Given the description of an element on the screen output the (x, y) to click on. 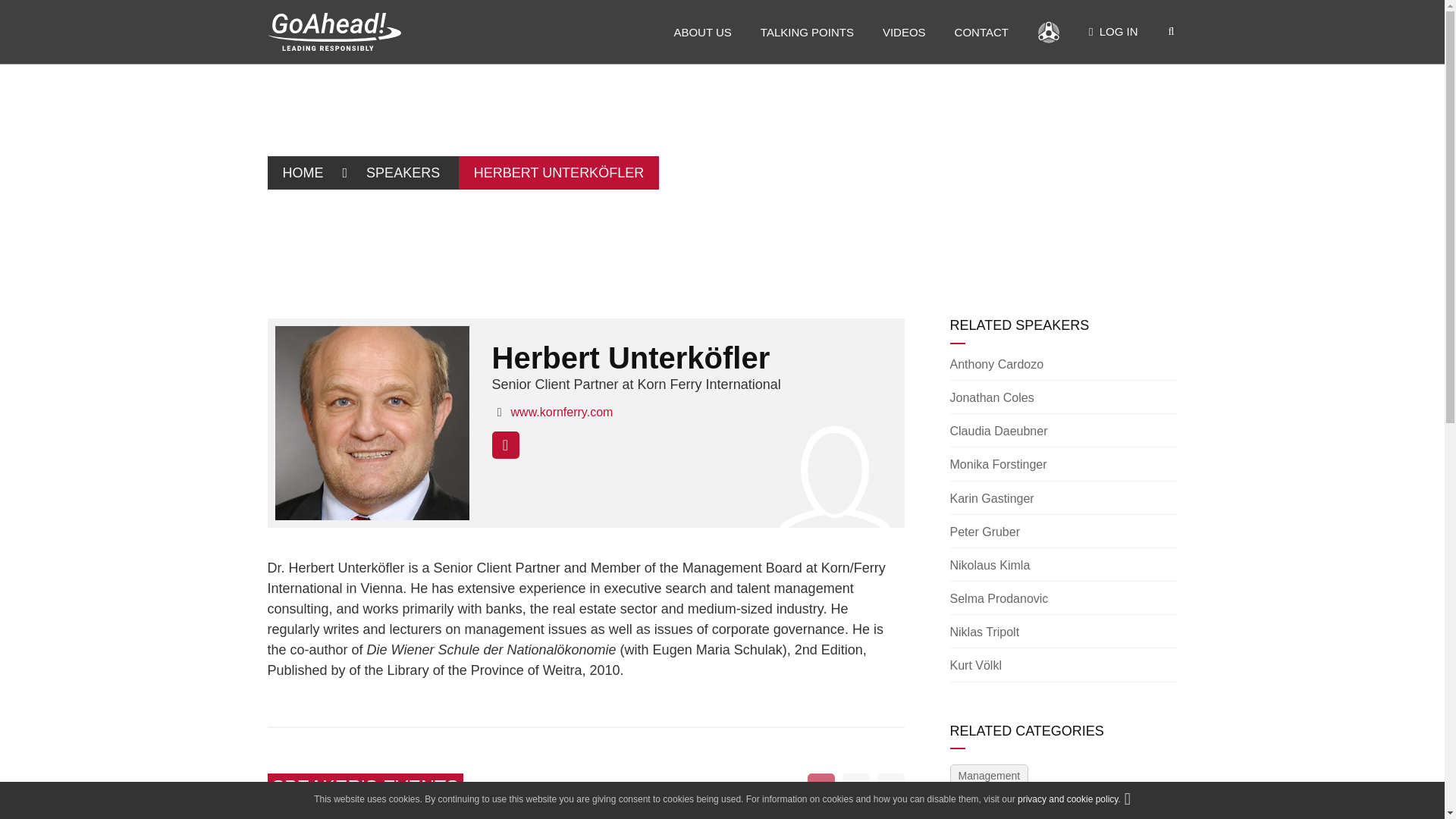
HOME (301, 172)
www.kornferry.com (561, 411)
Karin Gastinger (991, 498)
Jonathan Coles (991, 397)
VIDEOS (904, 31)
Anthony Cardozo (996, 364)
Peter Gruber (984, 531)
Monika Forstinger (997, 463)
Claudia Daeubner (997, 431)
TALKING POINTS (806, 31)
SPEAKERS (402, 172)
LOG IN (1113, 31)
CONTACT (981, 31)
ABOUT US (701, 31)
